Given the description of an element on the screen output the (x, y) to click on. 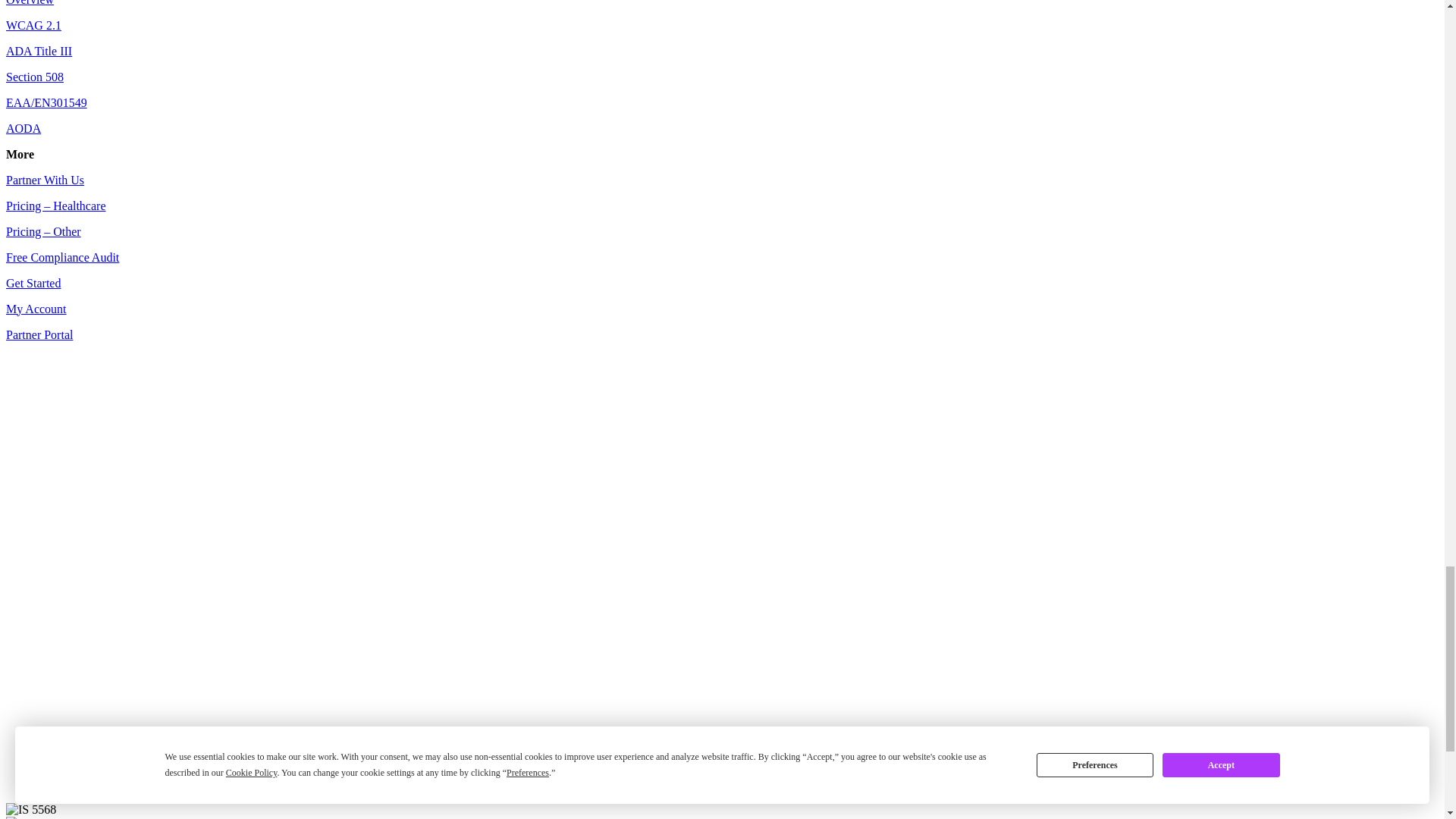
IS 5568 (30, 809)
IS 5568 (30, 817)
